Given the description of an element on the screen output the (x, y) to click on. 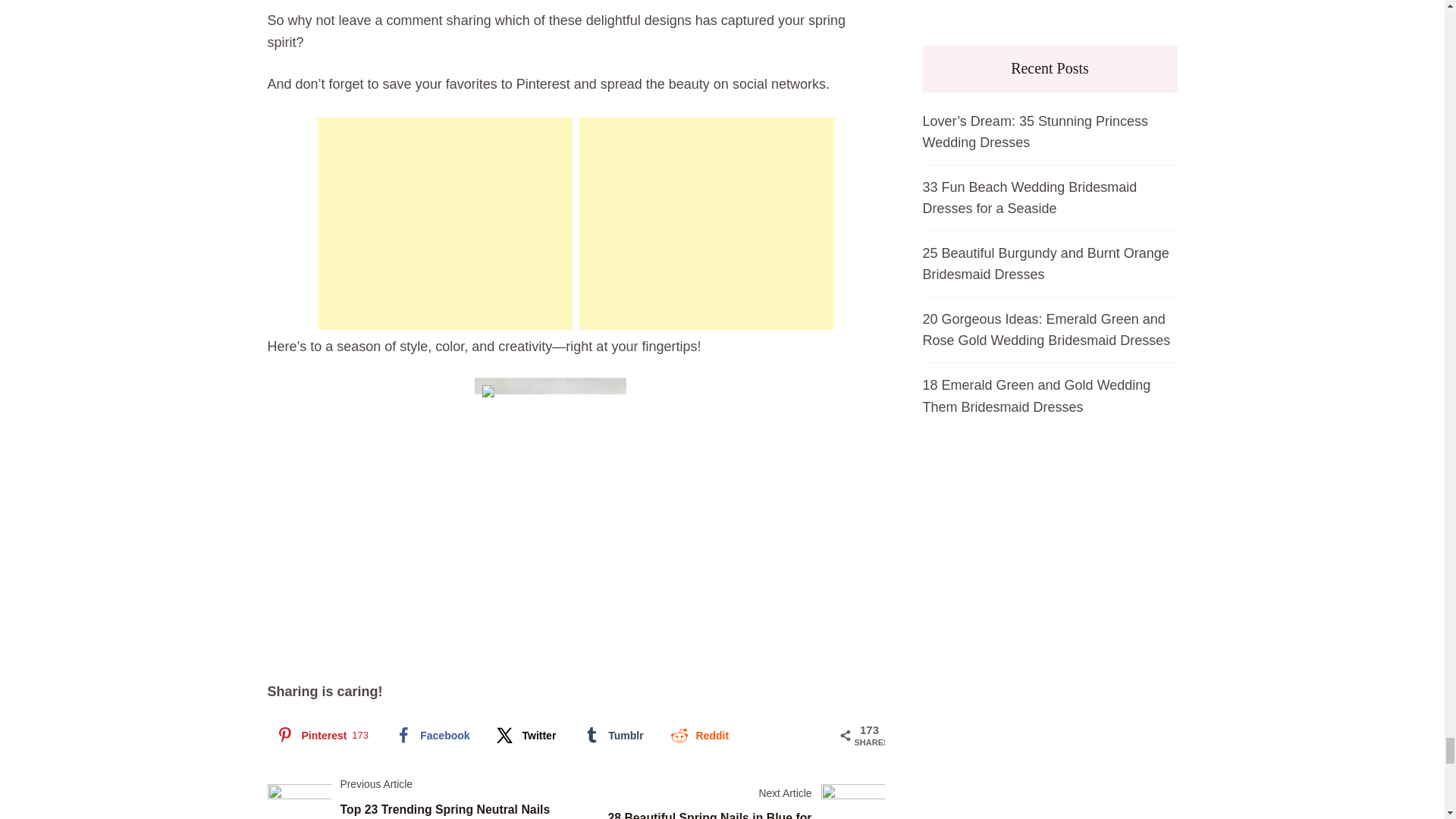
Save to Pinterest (320, 735)
Share on Tumblr (611, 735)
Share on X (524, 735)
Share on Facebook (430, 735)
Share on Reddit (698, 735)
